Given the description of an element on the screen output the (x, y) to click on. 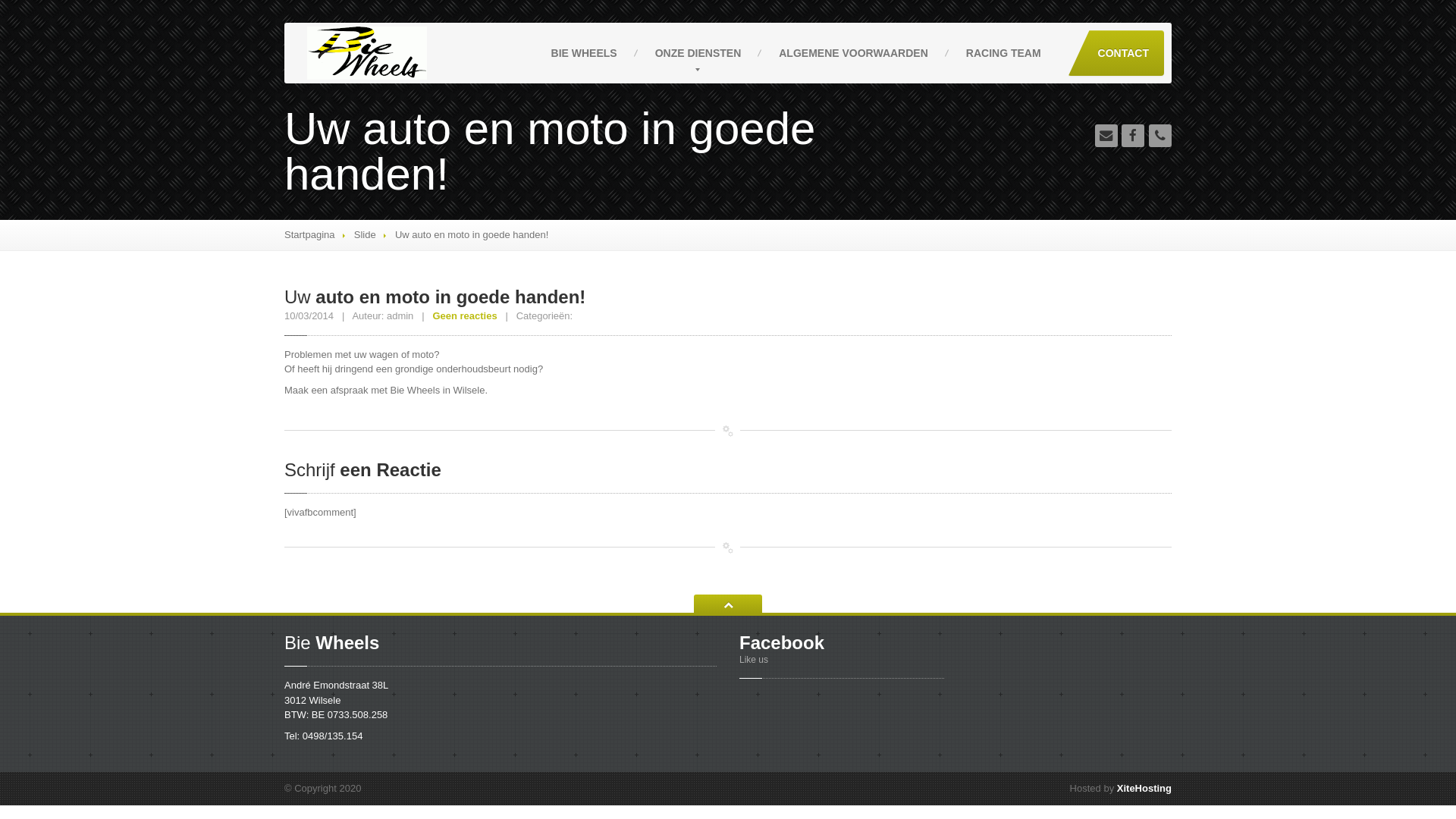
0498/135.154 Element type: text (332, 735)
Geen reacties Element type: text (464, 315)
Startpagina Element type: text (309, 234)
CONTACT Element type: text (1115, 52)
ONZE DIENSTEN Element type: text (698, 52)
ALGEMENE VOORWAARDEN Element type: text (853, 52)
BIE WHEELS Element type: text (584, 52)
XiteHosting Element type: text (1144, 787)
RACING TEAM Element type: text (1003, 52)
Slide Element type: text (365, 234)
